Given the description of an element on the screen output the (x, y) to click on. 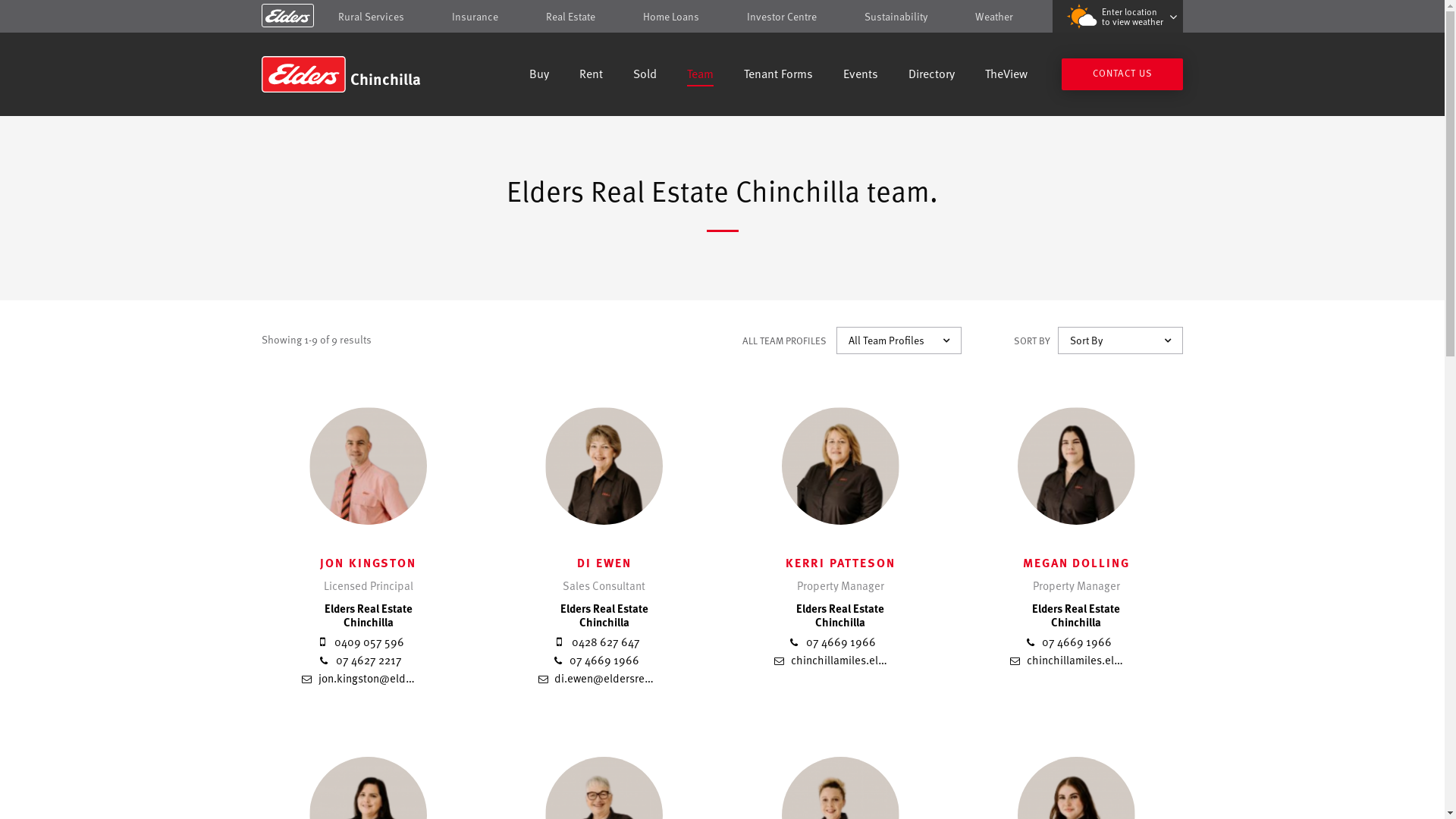
Events Element type: text (860, 75)
Sold Element type: text (644, 75)
Home Loans Element type: text (671, 16)
Enter location to view weather Element type: text (1117, 16)
Real Estate Element type: text (570, 16)
07 4669 1966 Element type: text (831, 641)
chinchillamiles.elders@email.propertyme.com Element type: text (1133, 659)
Chinchilla Element type: text (369, 74)
0428 627 647 Element type: text (596, 641)
Skip to content Element type: text (722, 17)
Investor Centre Element type: text (781, 16)
Weather Element type: text (994, 16)
Rent Element type: text (590, 75)
Insurance Element type: text (474, 16)
Sustainability Element type: text (895, 16)
0409 057 596 Element type: text (359, 641)
07 4669 1966 Element type: text (596, 659)
07 4627 2217 Element type: text (359, 659)
TheView Element type: text (1006, 75)
Team Element type: text (700, 75)
Directory Element type: text (931, 75)
Rural Services Element type: text (371, 16)
CONTACT US Element type: text (1122, 74)
jon.kingston@eldersrealestate.com.au Element type: text (404, 677)
di.ewen@eldersrealestate.com.au Element type: text (630, 677)
Tenant Forms Element type: text (777, 75)
Buy Element type: text (539, 75)
07 4669 1966 Element type: text (1067, 641)
chinchillamiles.elders@email.propertyme.com Element type: text (897, 659)
